Given the description of an element on the screen output the (x, y) to click on. 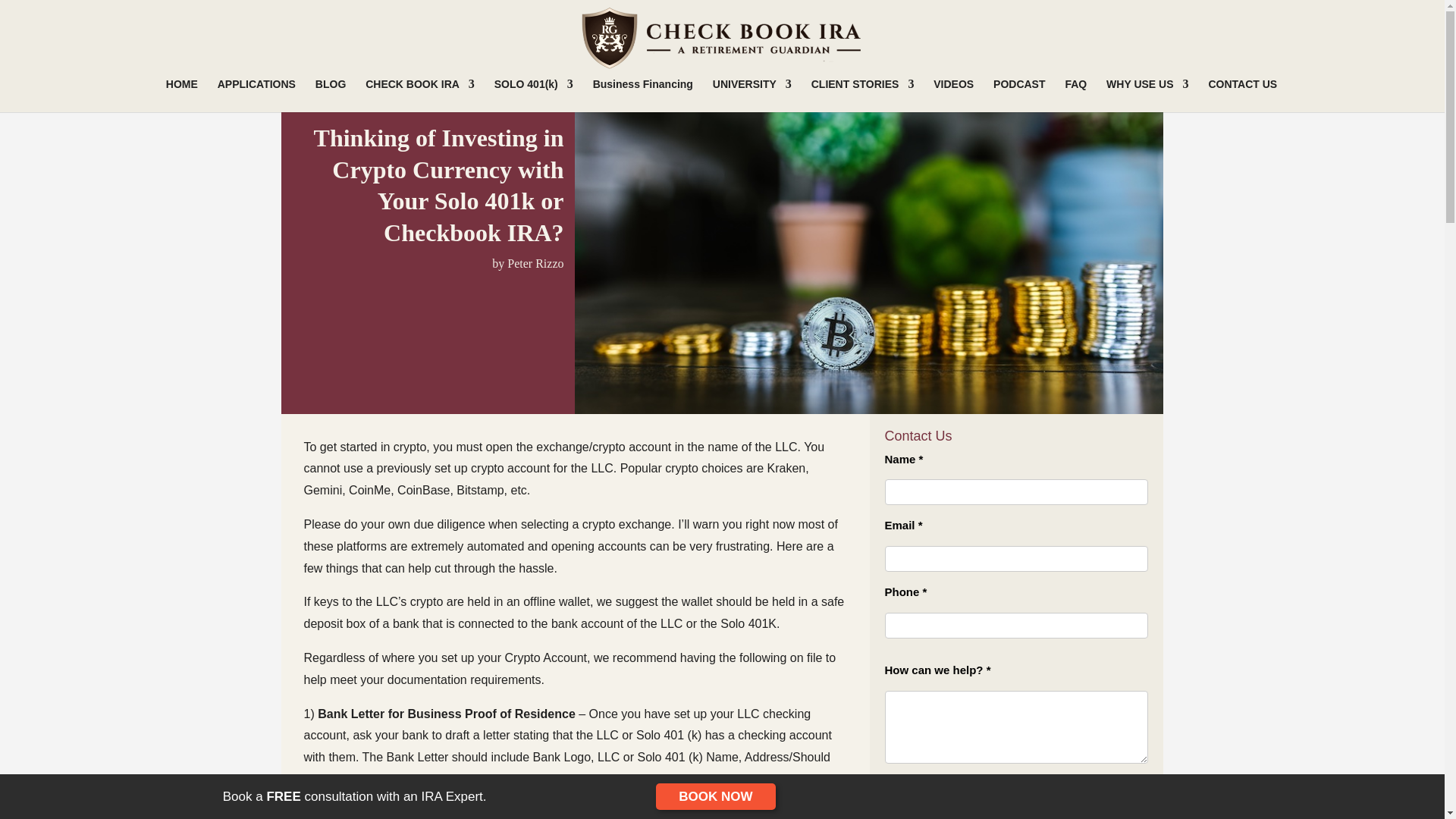
CHECK BOOK IRA (419, 94)
UNIVERSITY (752, 94)
HOME (181, 94)
APPLICATIONS (255, 94)
Business Financing (642, 94)
BOOK NOW (715, 796)
CLIENT STORIES (862, 94)
Send me the FREE Check Book IRA Roadmap (903, 787)
BLOG (330, 94)
PODCAST (1018, 94)
